Given the description of an element on the screen output the (x, y) to click on. 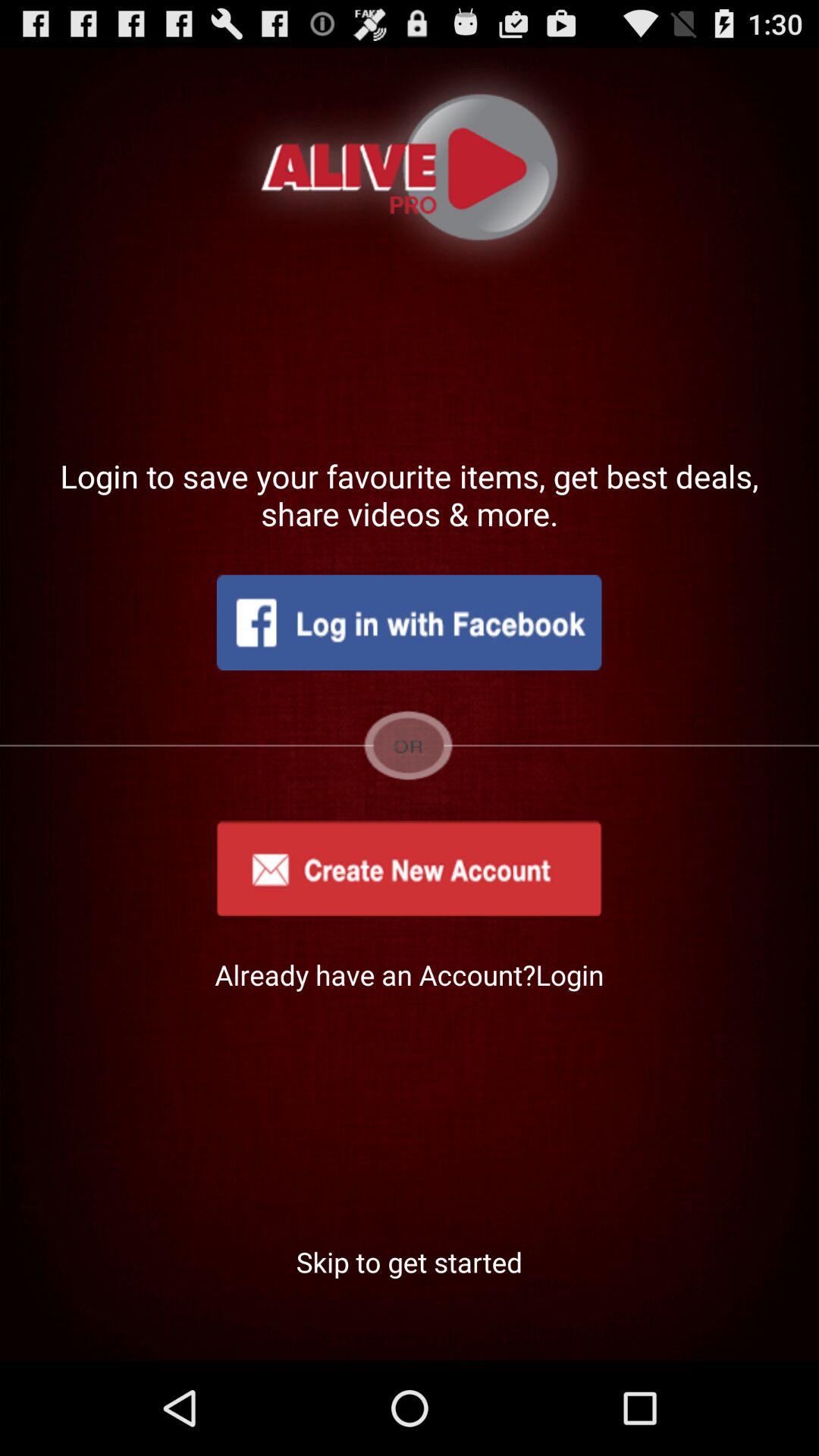
create new account (408, 868)
